Given the description of an element on the screen output the (x, y) to click on. 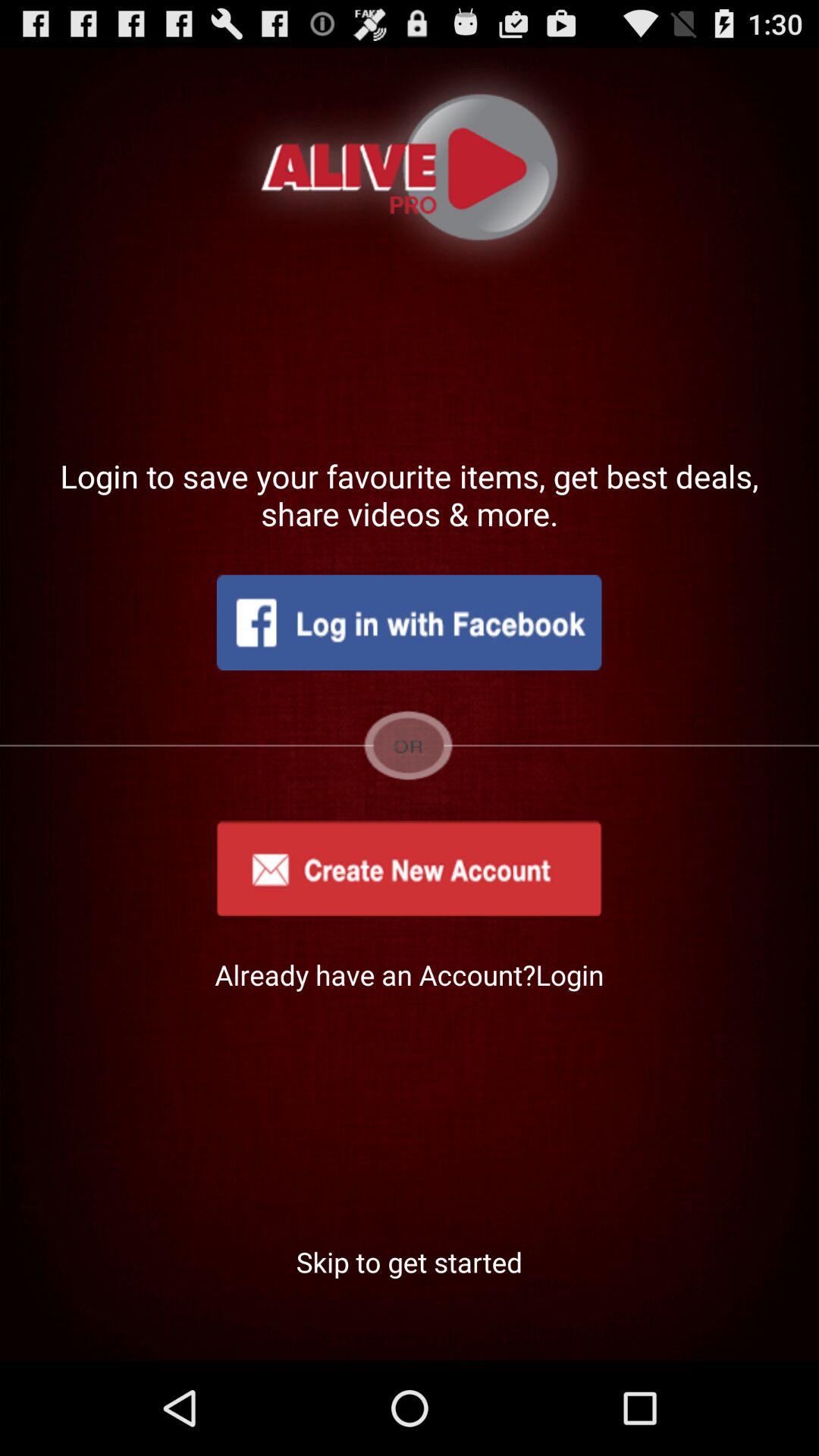
create new account (408, 868)
